Given the description of an element on the screen output the (x, y) to click on. 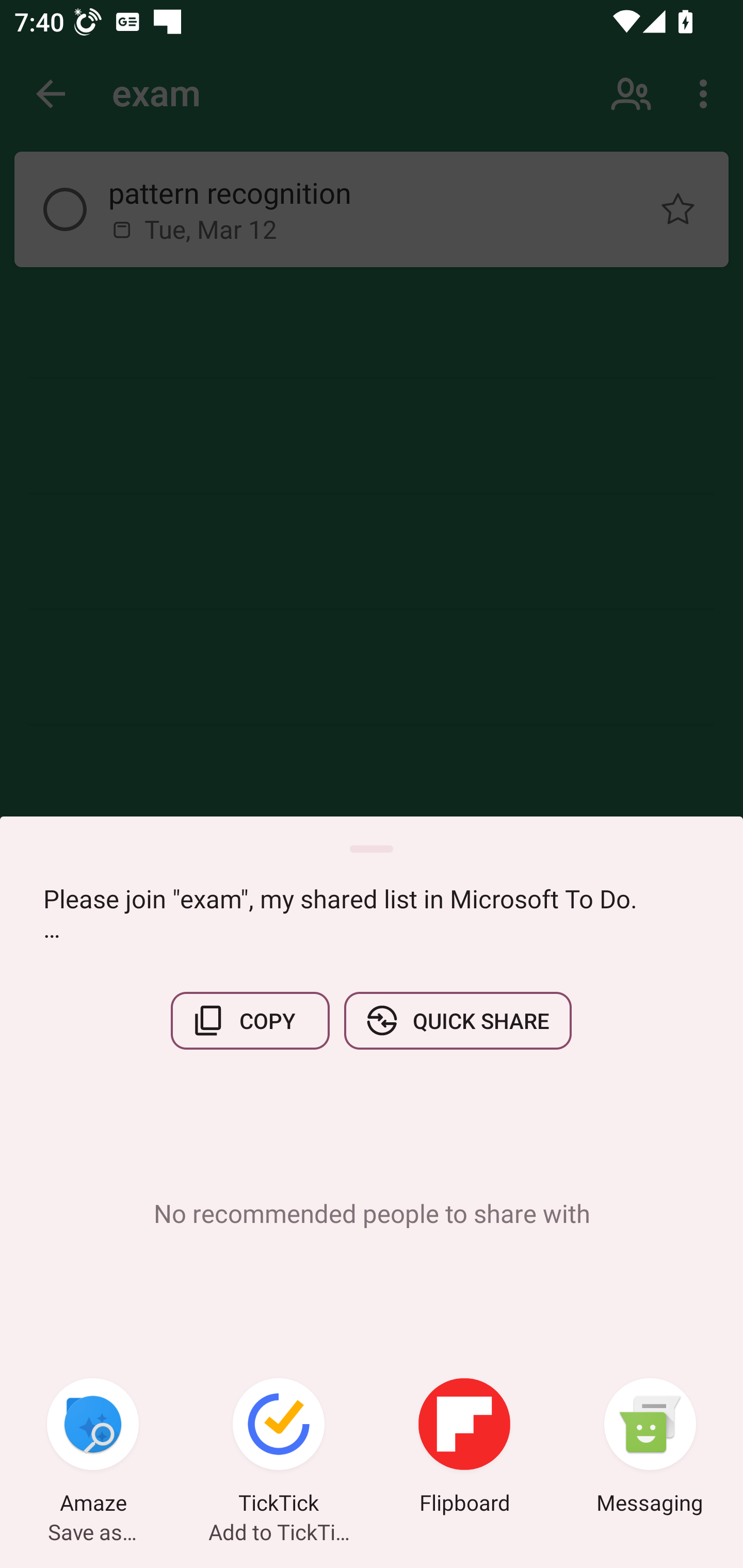
COPY (249, 1020)
QUICK SHARE (457, 1020)
Amaze Save as… (92, 1448)
TickTick Add to TickTick (278, 1448)
Flipboard (464, 1448)
Messaging (650, 1448)
